Given the description of an element on the screen output the (x, y) to click on. 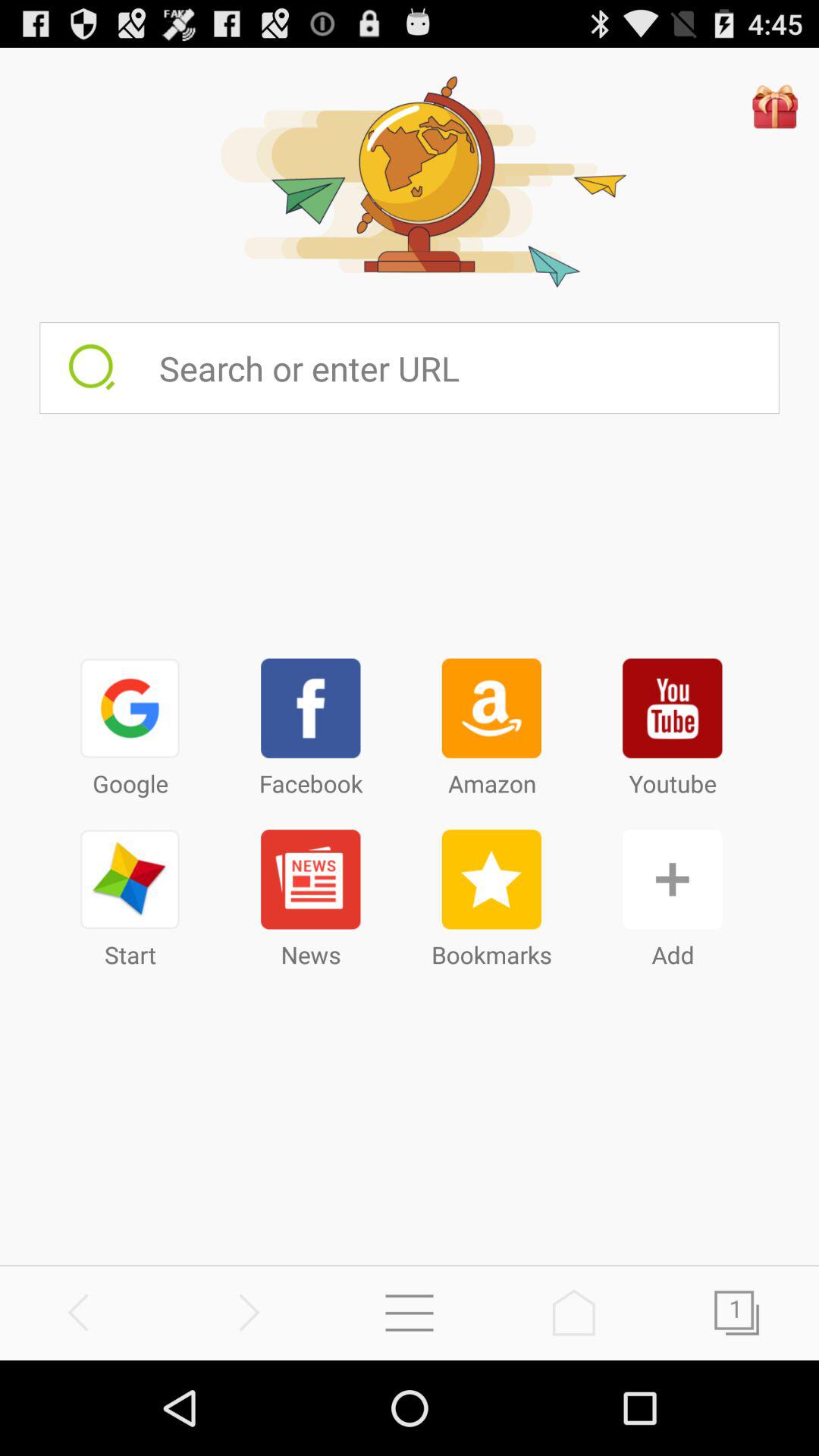
page one (736, 1312)
